Given the description of an element on the screen output the (x, y) to click on. 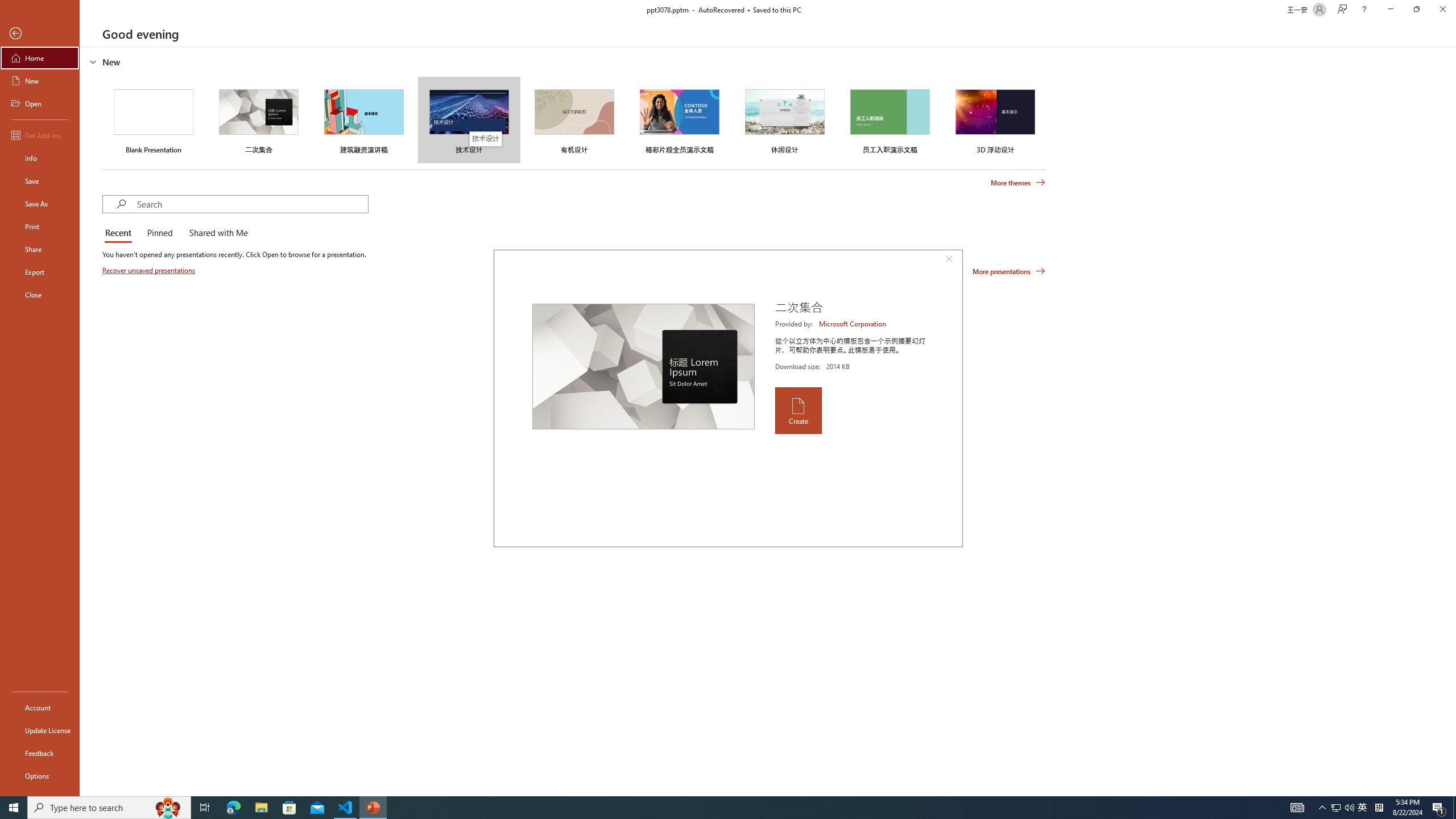
Save As (40, 203)
Info (40, 157)
Feedback (40, 753)
Class: NetUIScrollBar (1450, 421)
Blank Presentation (153, 119)
New (40, 80)
